Given the description of an element on the screen output the (x, y) to click on. 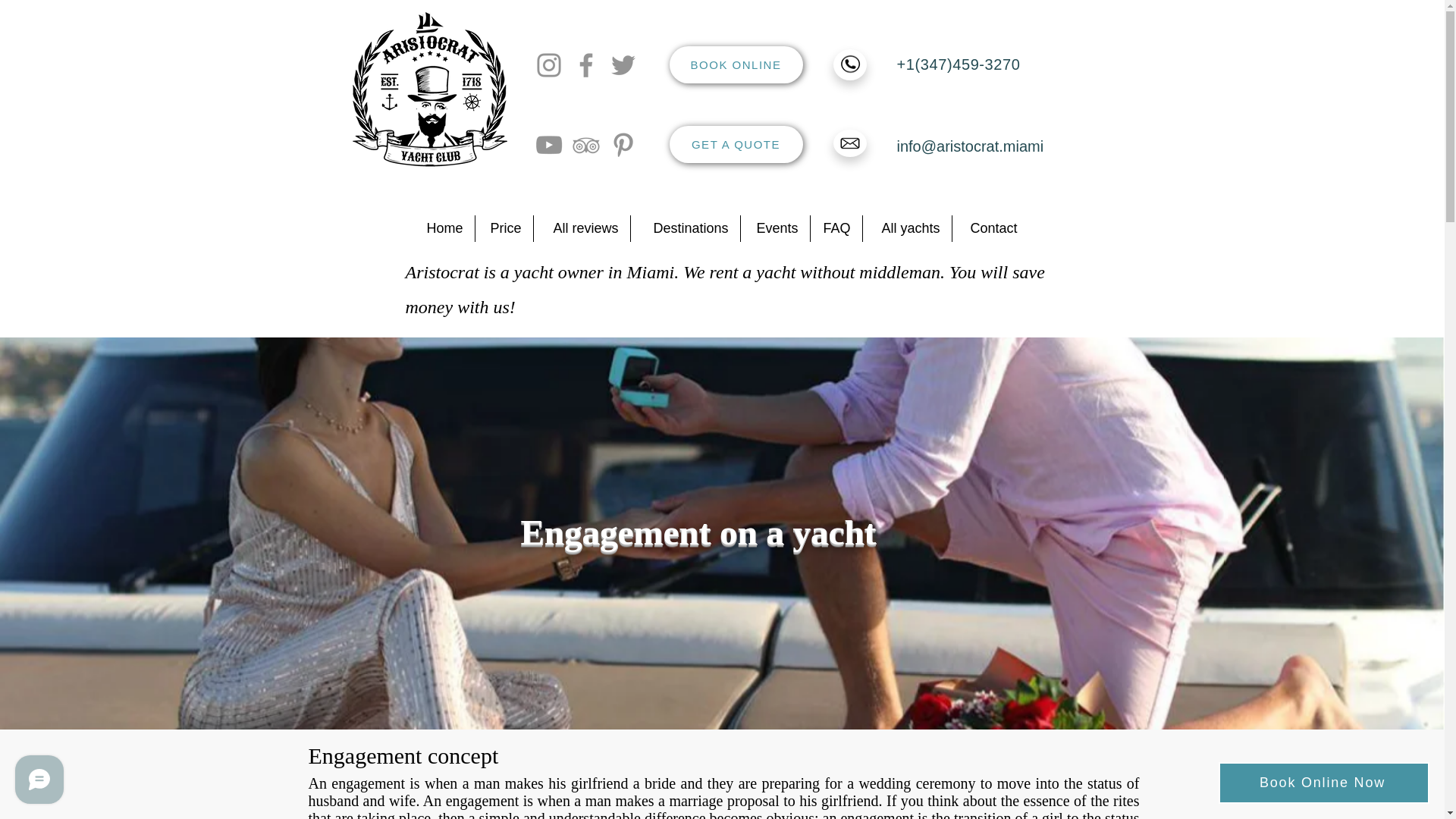
BOOK ONLINE (735, 64)
Price (503, 228)
Wix Chat (35, 783)
Destinations (684, 228)
FAQ (835, 228)
All yachts (907, 228)
All reviews (582, 228)
GET A QUOTE (735, 144)
Home (441, 228)
Events (774, 228)
Book Online Now (1323, 782)
Contact (990, 228)
